Given the description of an element on the screen output the (x, y) to click on. 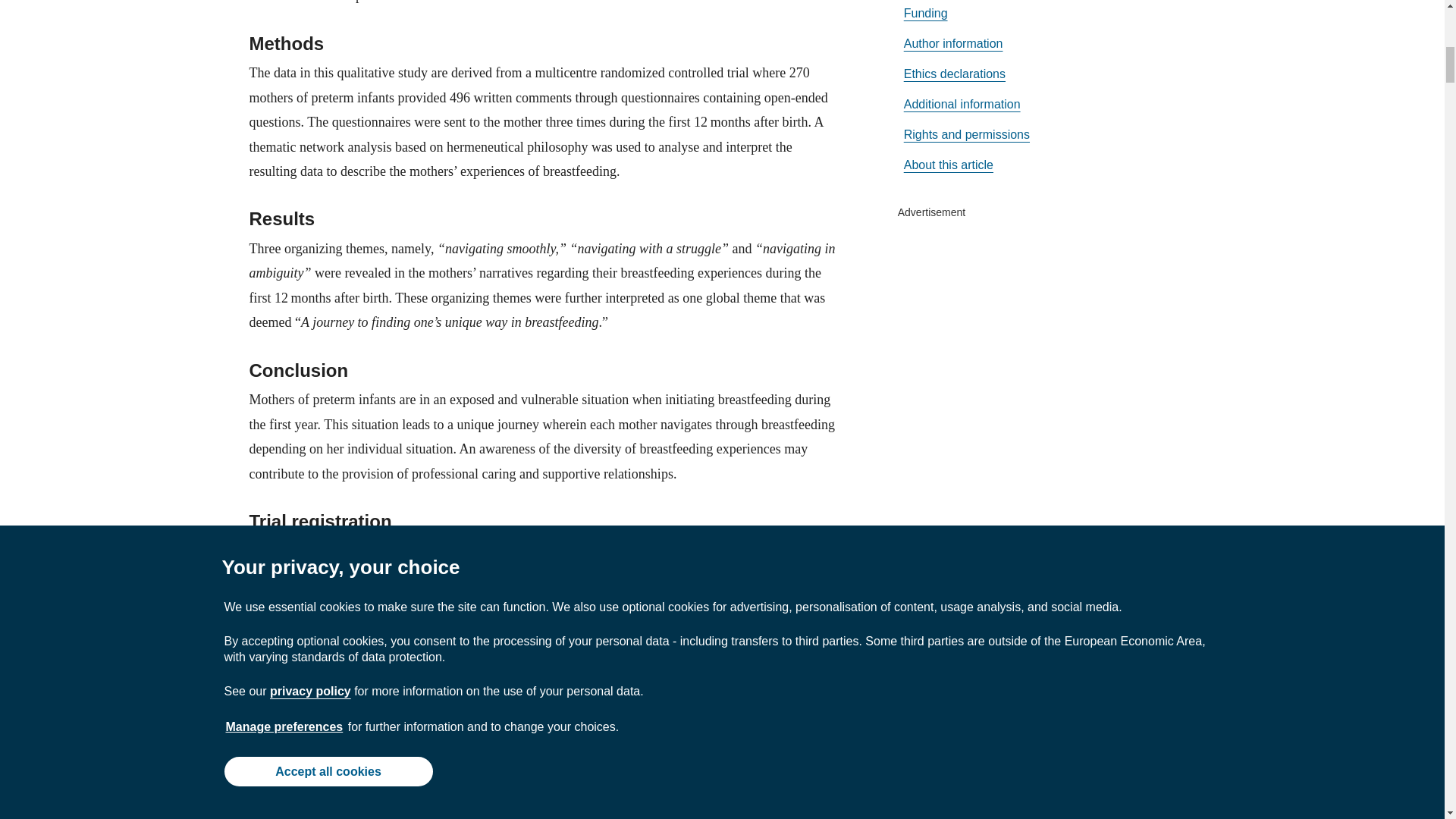
NCT01806480 (411, 550)
